Given the description of an element on the screen output the (x, y) to click on. 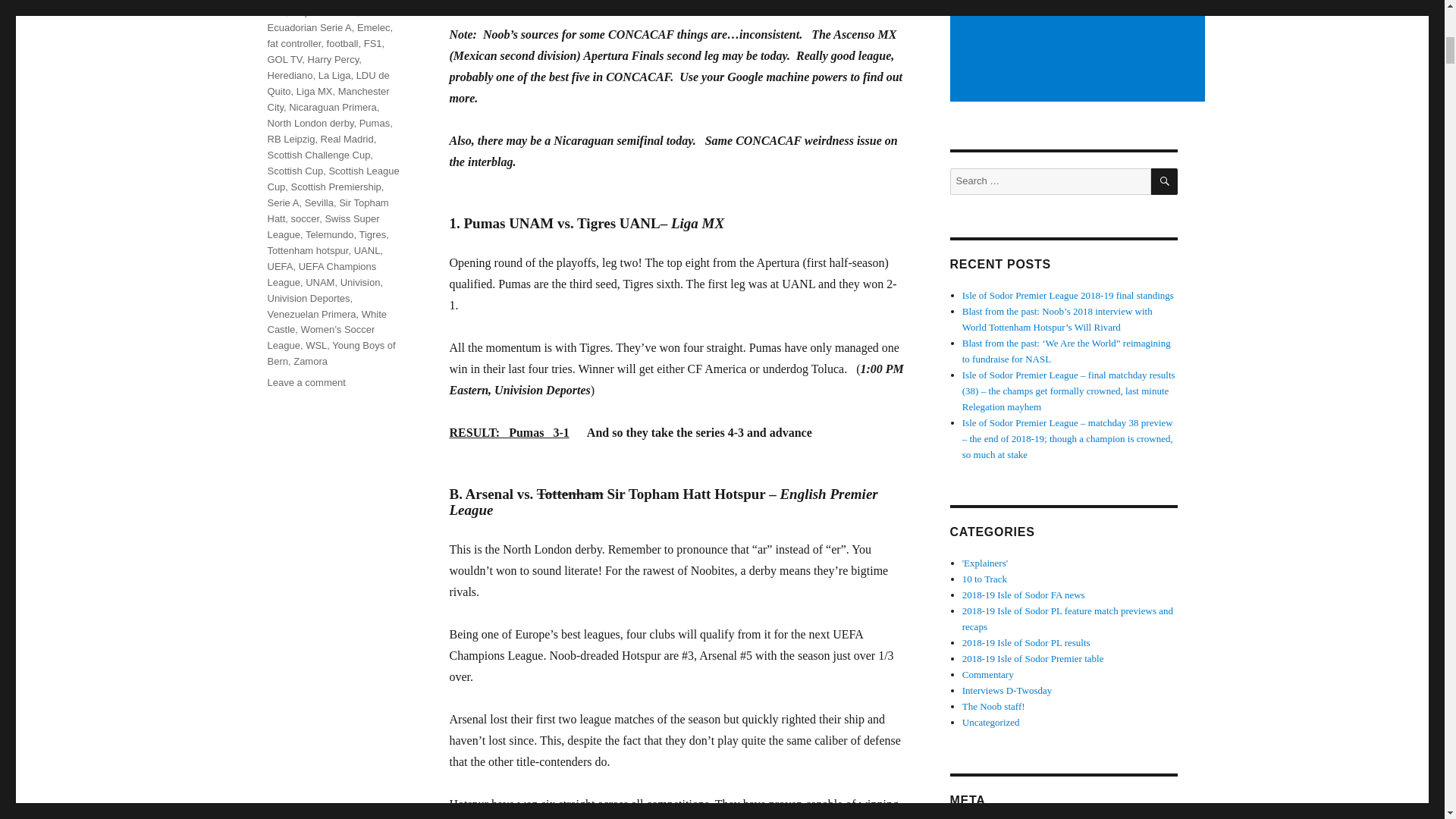
Deportivo Lara (324, 11)
fat controller (293, 43)
FS1 (372, 43)
Costa Rican Primera (312, 0)
North London derby (309, 122)
football (342, 43)
Herediano (289, 75)
Harry Percy (333, 59)
Nicaraguan Primera (332, 107)
Ecuadorian Serie A (308, 27)
Pumas (374, 122)
La Liga (334, 75)
GOL TV (283, 59)
RB Leipzig (290, 138)
Emelec (373, 27)
